Given the description of an element on the screen output the (x, y) to click on. 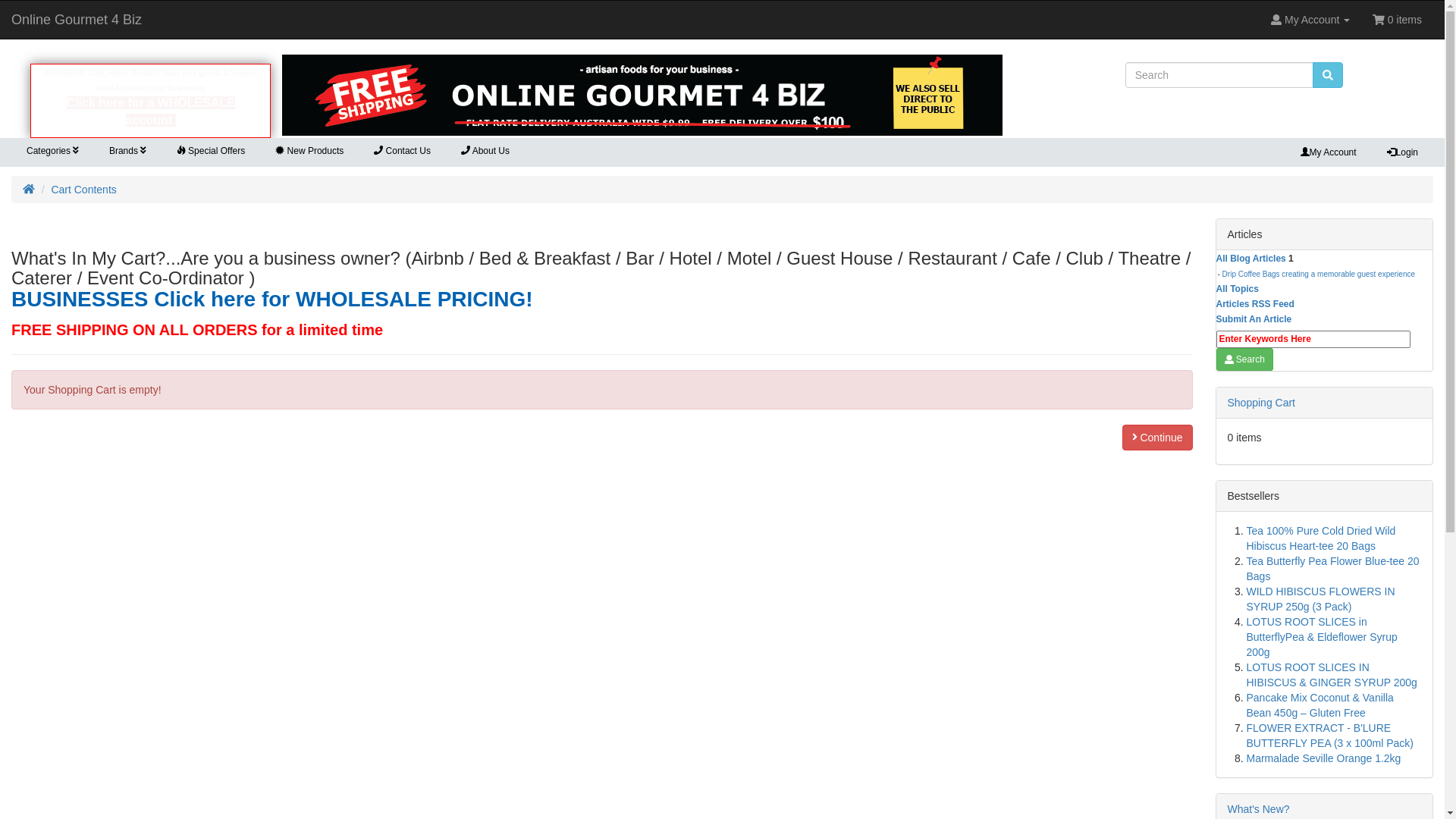
FLOWER EXTRACT - B'LURE BUTTERFLY PEA (3 x 100ml Pack) Element type: text (1329, 735)
All Blog Articles Element type: text (1251, 258)
Online Gourmet 4 Biz Element type: hover (642, 94)
Login Element type: text (1402, 152)
WILD HIBISCUS FLOWERS IN SYRUP 250g (3 Pack) Element type: text (1320, 598)
Search Element type: text (1244, 359)
Continue Element type: text (1157, 437)
Articles RSS Feed Element type: text (1255, 303)
Special Offers Element type: text (210, 151)
Home Element type: text (28, 189)
Brands Element type: text (127, 151)
What's New? Element type: text (1257, 809)
About Us Element type: text (484, 151)
Contact Us Element type: text (401, 151)
Drip Coffee Bags creating a memorable guest experience Element type: text (1318, 273)
Click here for a WHOLESALE account  Element type: text (150, 111)
My Account Element type: text (1328, 152)
Tea 100% Pure Cold Dried Wild Hibiscus Heart-tee 20 Bags Element type: text (1321, 538)
My Account Element type: text (1310, 19)
Submit An Article Element type: text (1254, 318)
New Products Element type: text (309, 151)
Categories Element type: text (52, 151)
BUSINESSES Click here for WHOLESALE PRICING! Element type: text (272, 298)
Shopping Cart Element type: text (1260, 402)
LOTUS ROOT SLICES in ButterflyPea & Eldeflower Syrup 200g Element type: text (1321, 636)
All Topics Element type: text (1237, 288)
LOTUS ROOT SLICES IN HIBISCUS & GINGER SYRUP 200g Element type: text (1331, 674)
Marmalade Seville Orange 1.2kg Element type: text (1323, 758)
Online Gourmet 4 Biz Element type: text (76, 19)
Tea Butterfly Pea Flower Blue-tee 20 Bags Element type: text (1332, 568)
Cart Contents Element type: text (83, 189)
